Given the description of an element on the screen output the (x, y) to click on. 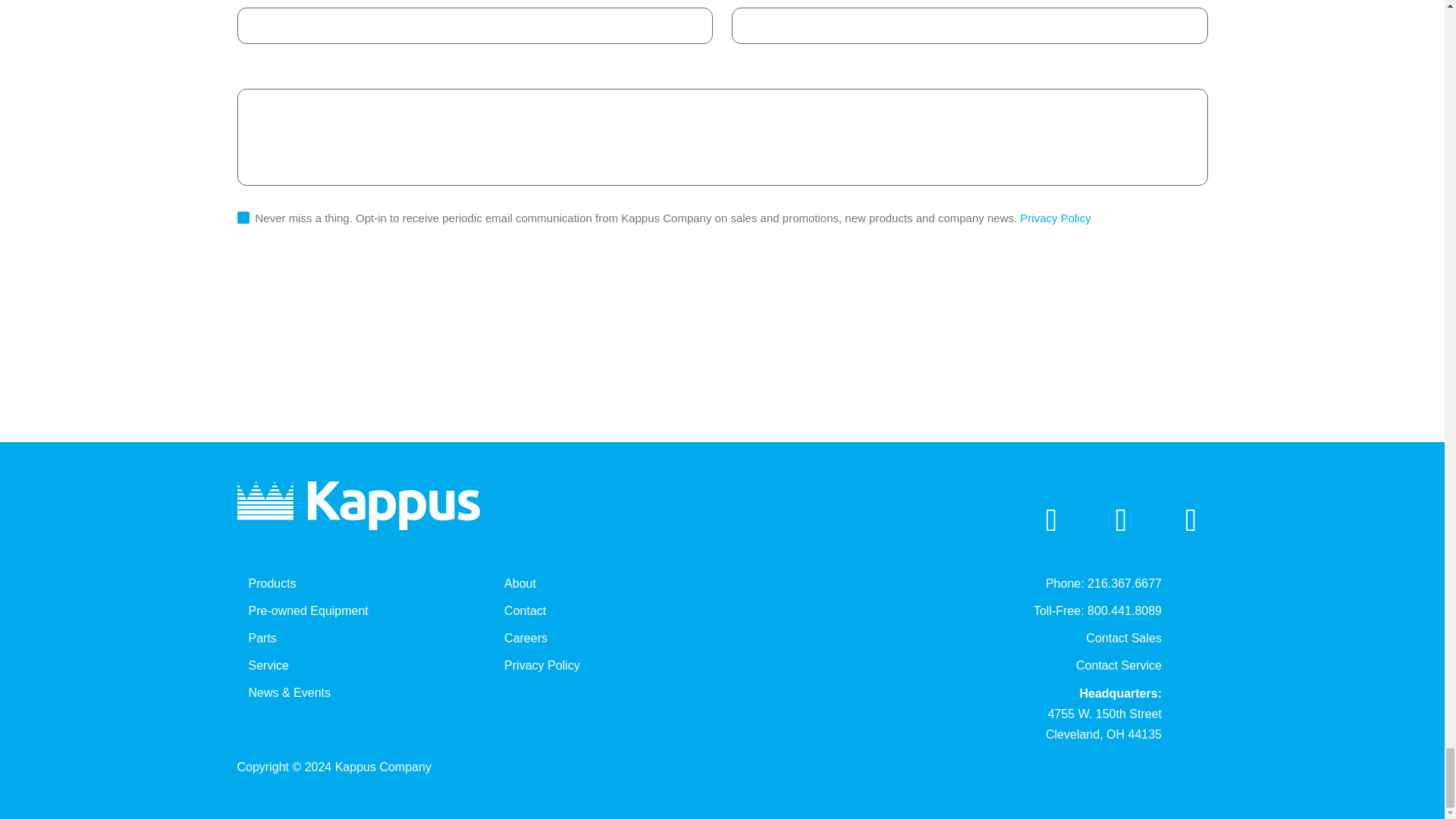
Follow on LinkedIn (1051, 520)
Follow on Facebook (1121, 520)
Kappus Logo (357, 505)
Follow on Instagram (1190, 520)
Submit (279, 294)
